Given the description of an element on the screen output the (x, y) to click on. 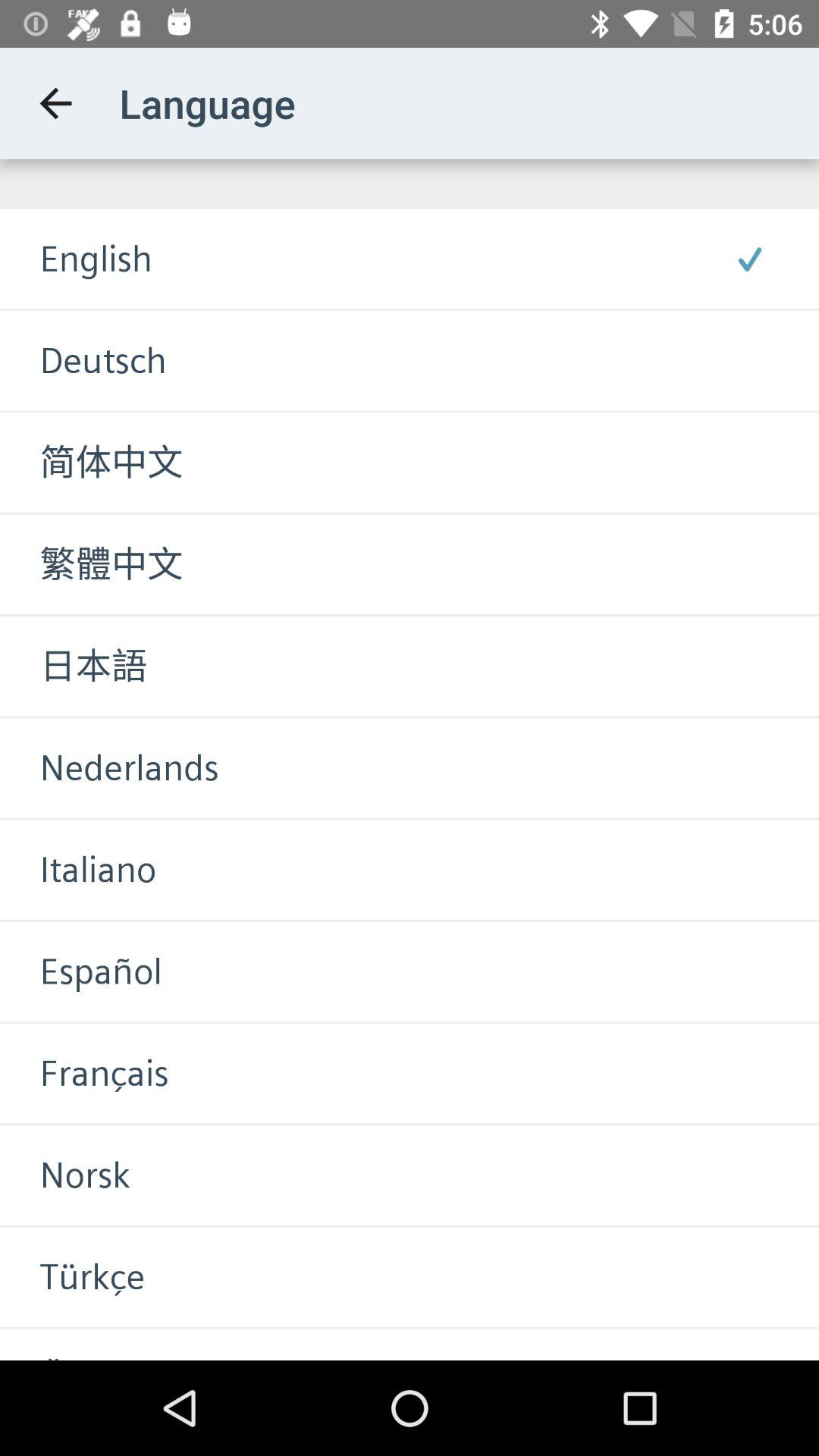
choose icon above english item (55, 103)
